Given the description of an element on the screen output the (x, y) to click on. 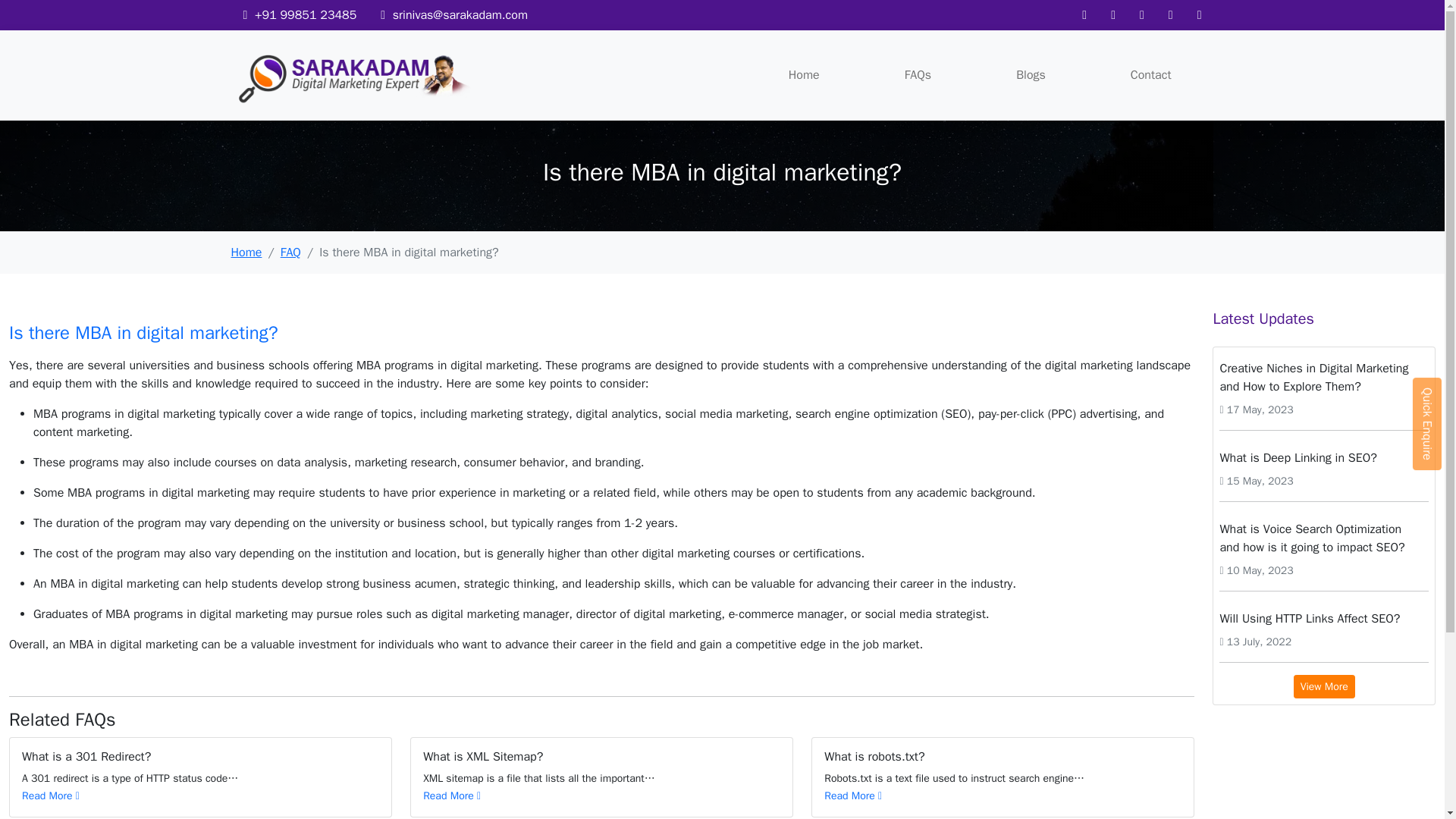
FAQs (917, 74)
Read More (451, 795)
Read More (853, 795)
Will Using HTTP Links Affect SEO? (1324, 618)
Home (804, 74)
Home (246, 252)
Contact (1150, 74)
What is Deep Linking in SEO? (1324, 458)
Read More (50, 795)
Blogs (1030, 74)
FAQ (291, 252)
View More (1324, 686)
